Given the description of an element on the screen output the (x, y) to click on. 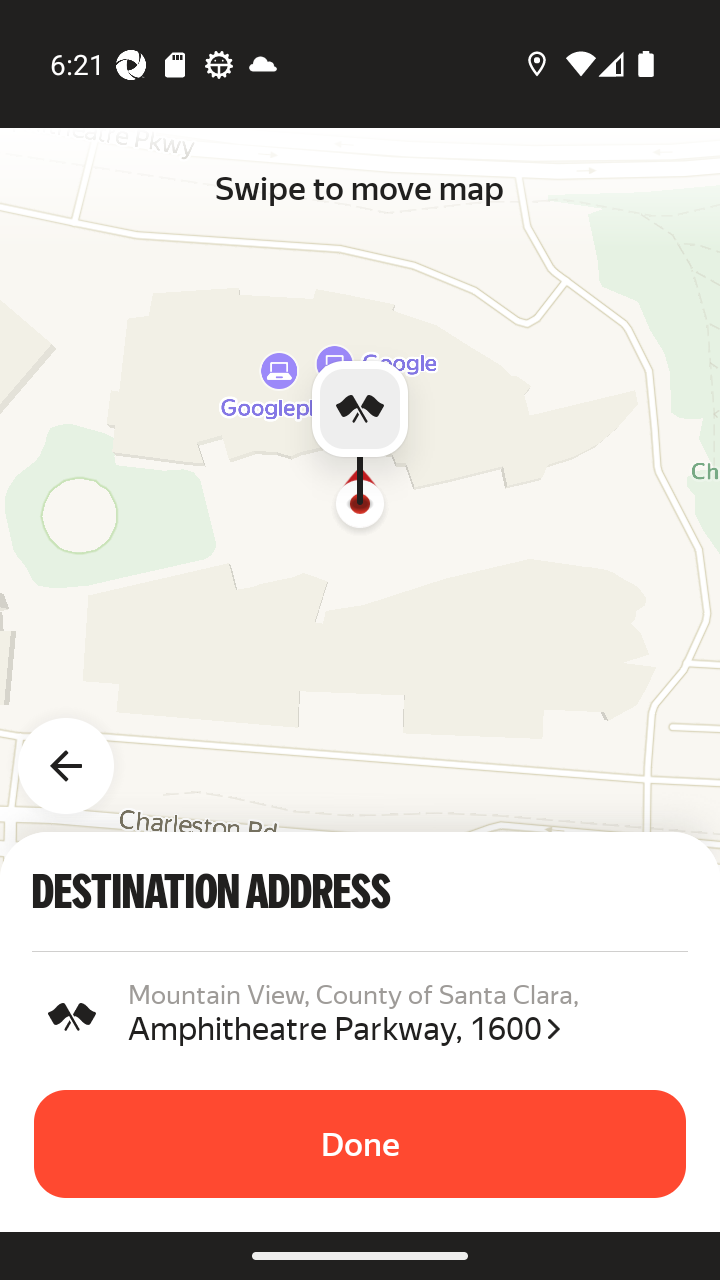
Back (78, 753)
Done (359, 1144)
